Given the description of an element on the screen output the (x, y) to click on. 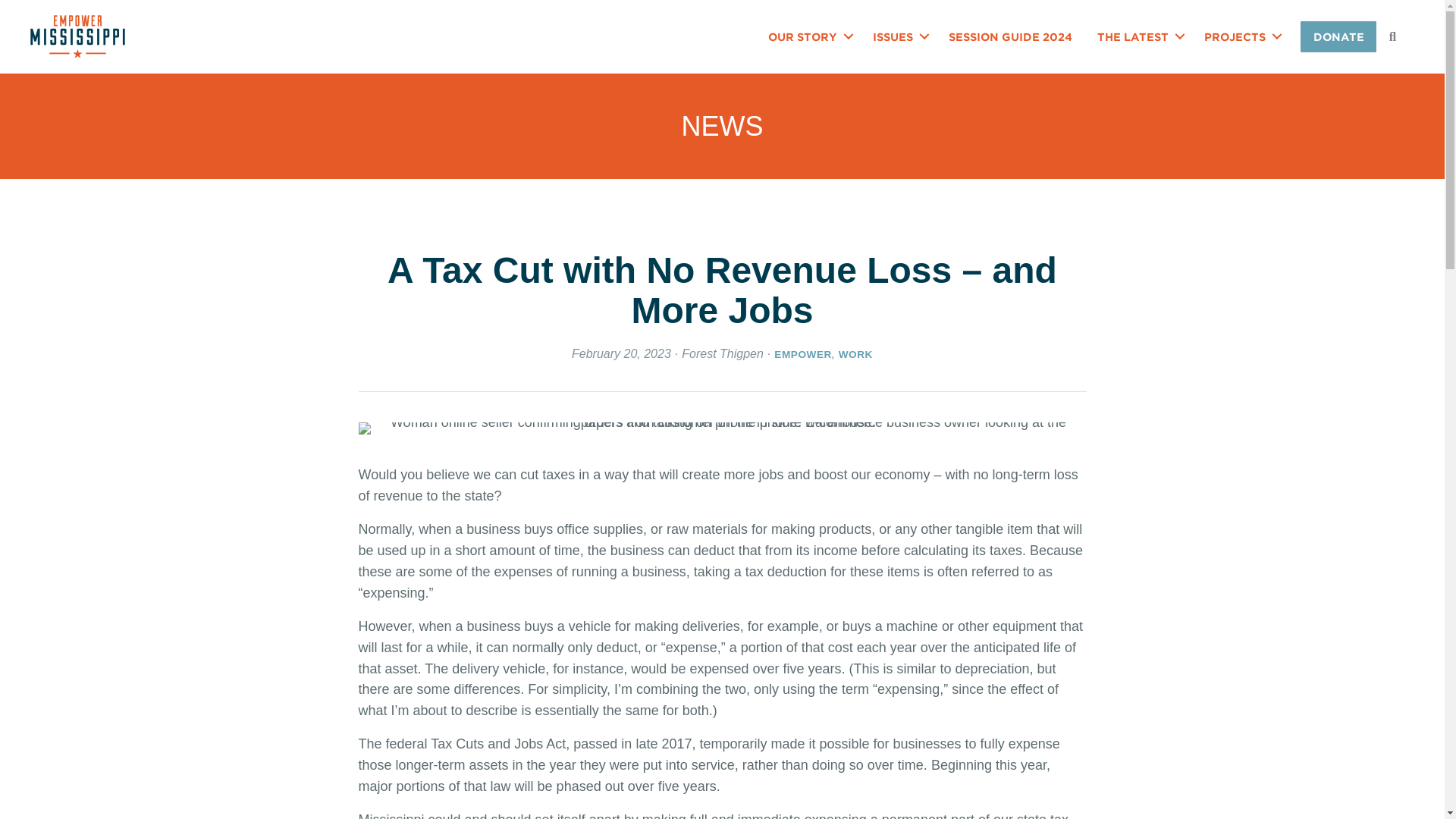
OUR STORY (807, 36)
Forest Thigpen (721, 353)
WORK (855, 354)
SESSION GUIDE 2024 (1010, 36)
SEARCH (1395, 36)
PROJECTS (1240, 36)
NEWS (721, 125)
DONATE (1338, 36)
empower-ms-logo-light (77, 36)
News (721, 125)
THE LATEST (1137, 36)
ISSUES (898, 36)
EMPOWER (802, 354)
